Given the description of an element on the screen output the (x, y) to click on. 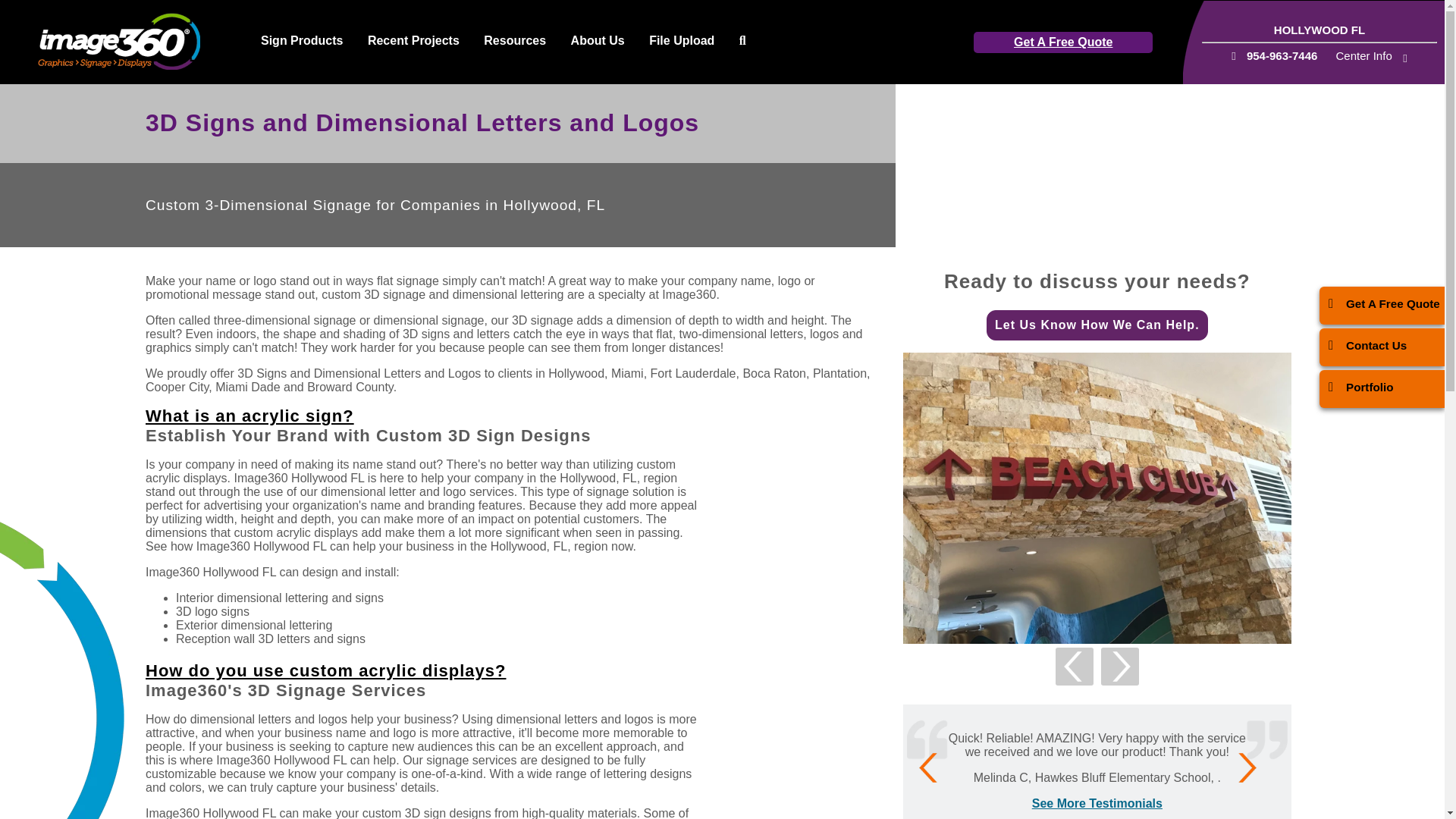
Let us know how we can help. (1097, 325)
Sign Products (301, 41)
Search (743, 41)
3D Signs and Dimensional Letters and Logos (1096, 497)
